Given the description of an element on the screen output the (x, y) to click on. 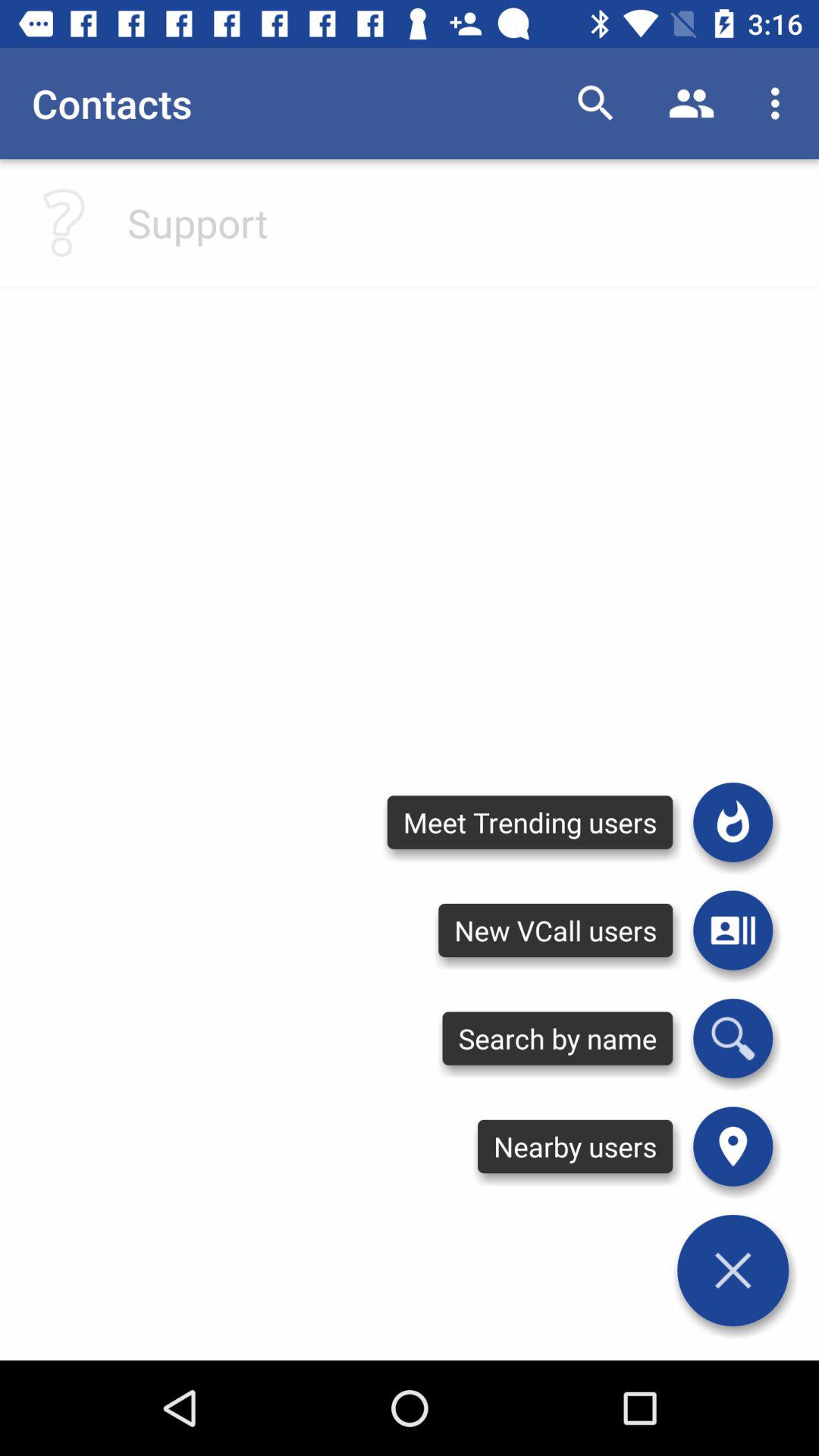
meet trending users (733, 822)
